Given the description of an element on the screen output the (x, y) to click on. 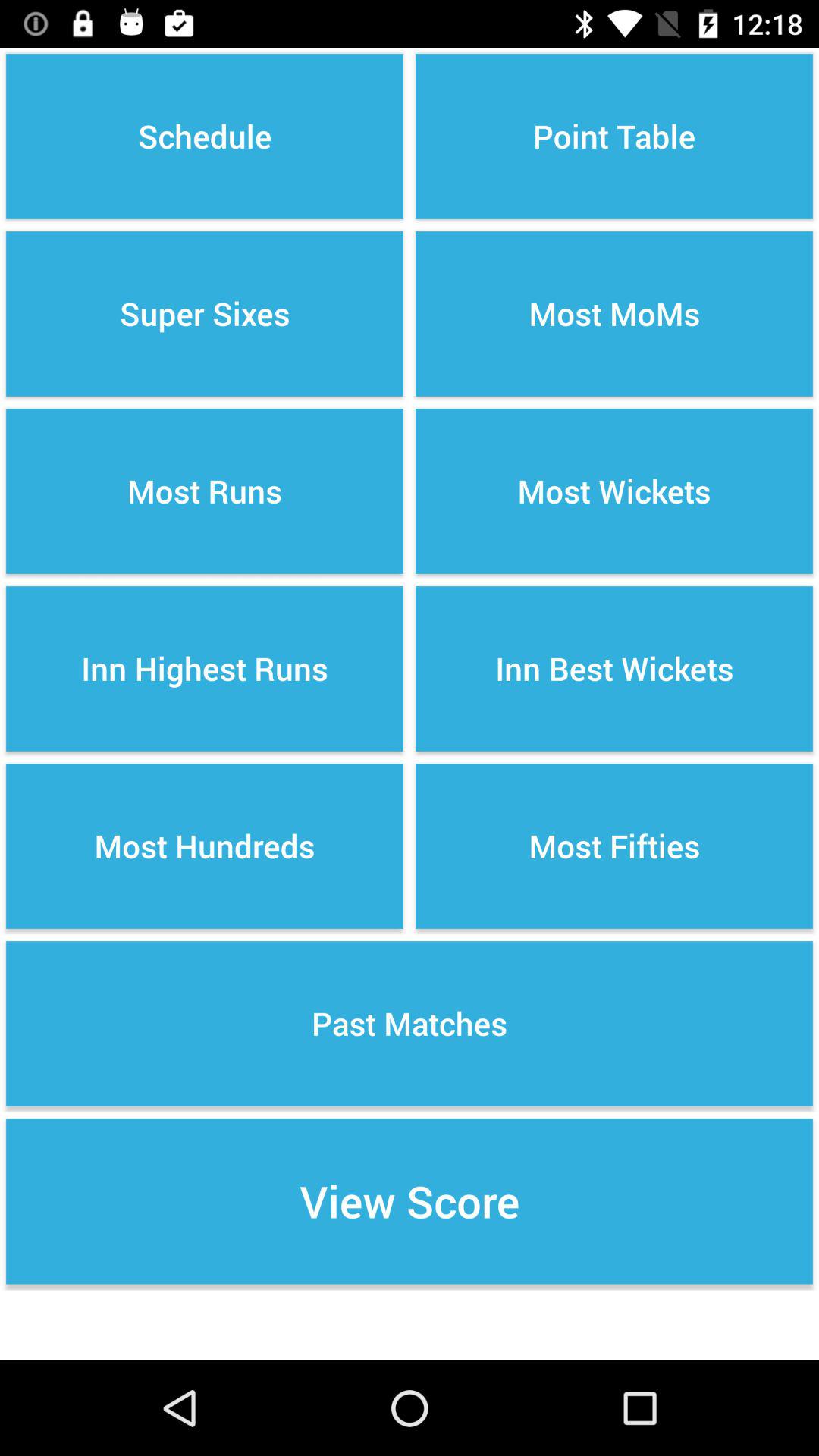
open the button above inn best wickets (613, 490)
